Given the description of an element on the screen output the (x, y) to click on. 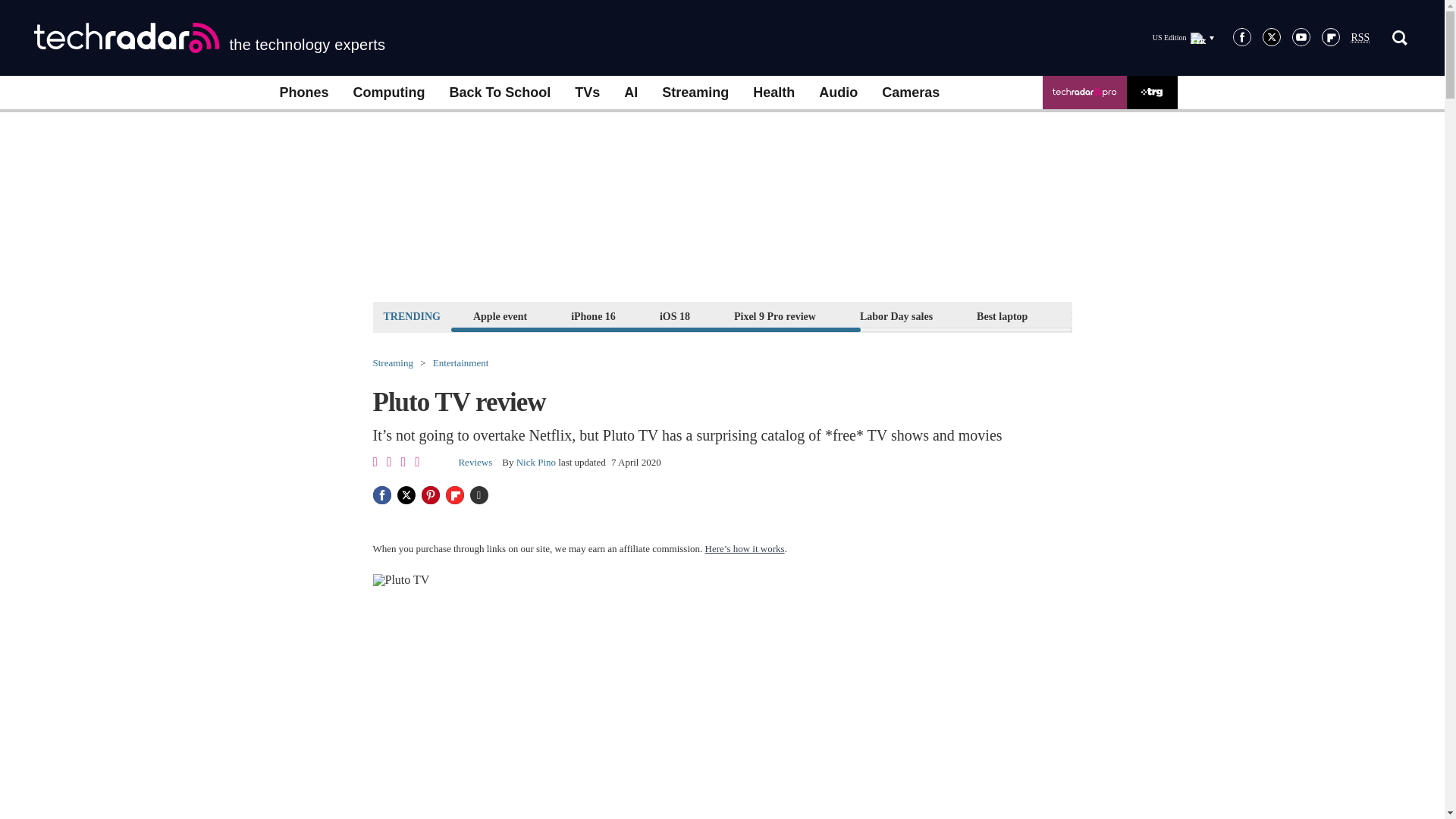
Audio (837, 92)
TVs (586, 92)
AI (630, 92)
Health (773, 92)
Computing (389, 92)
Streaming (695, 92)
US Edition (1182, 37)
Back To School (499, 92)
Really Simple Syndication (1360, 37)
the technology experts (209, 38)
